Given the description of an element on the screen output the (x, y) to click on. 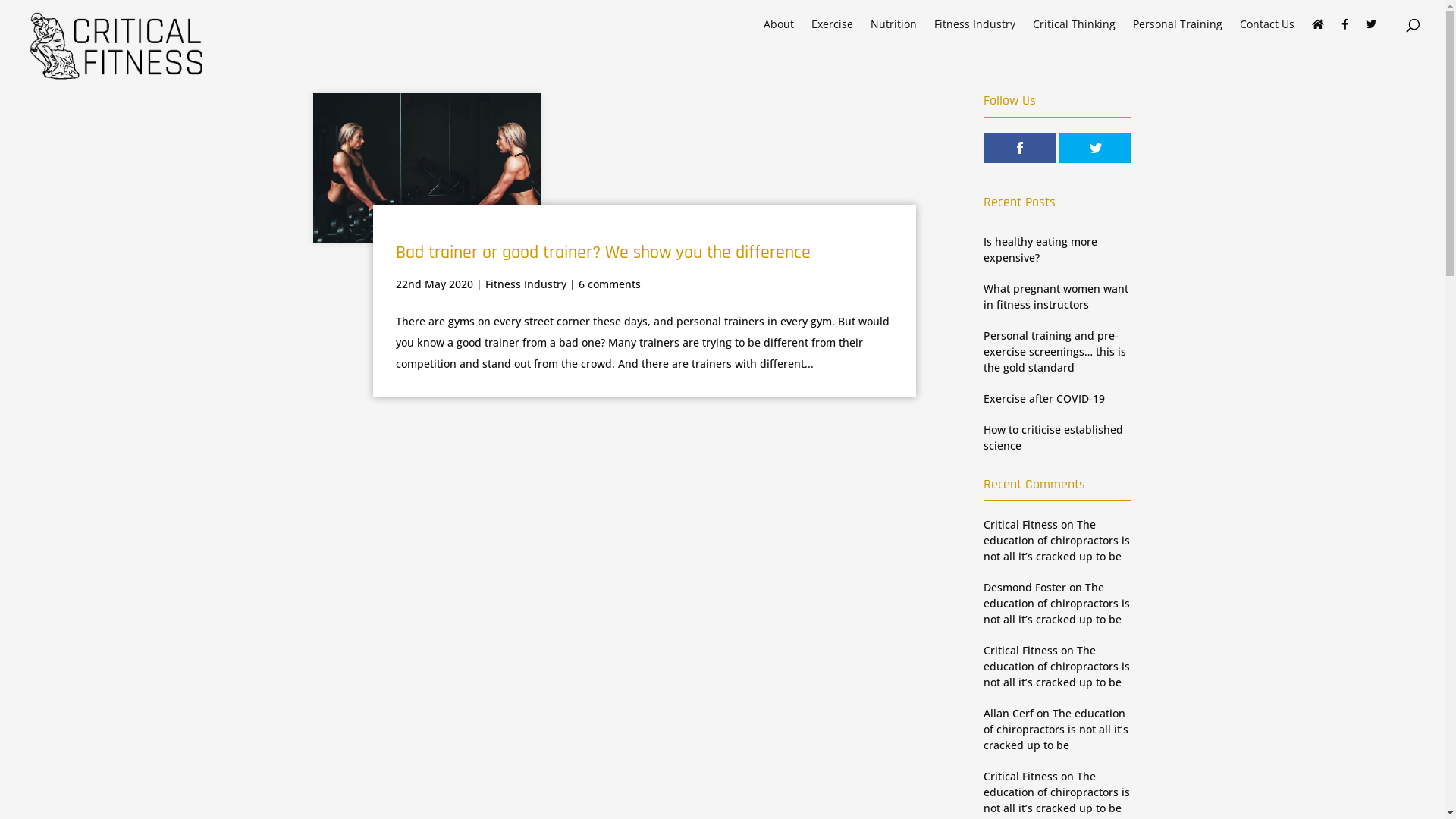
Critical Thinking Element type: text (1073, 33)
Fitness Industry Element type: text (974, 33)
6 comments Element type: text (609, 283)
Contact Us Element type: text (1266, 33)
Exercise Element type: text (832, 33)
Is healthy eating more expensive? Element type: text (1040, 249)
Exercise after COVID-19 Element type: text (1043, 398)
Fitness Industry Element type: text (525, 283)
About Element type: text (778, 33)
How to criticise established science Element type: text (1053, 437)
What pregnant women want in fitness instructors Element type: text (1055, 296)
Bad trainer or good trainer? We show you the difference Element type: text (602, 252)
Personal Training Element type: text (1177, 33)
Nutrition Element type: text (893, 33)
